Given the description of an element on the screen output the (x, y) to click on. 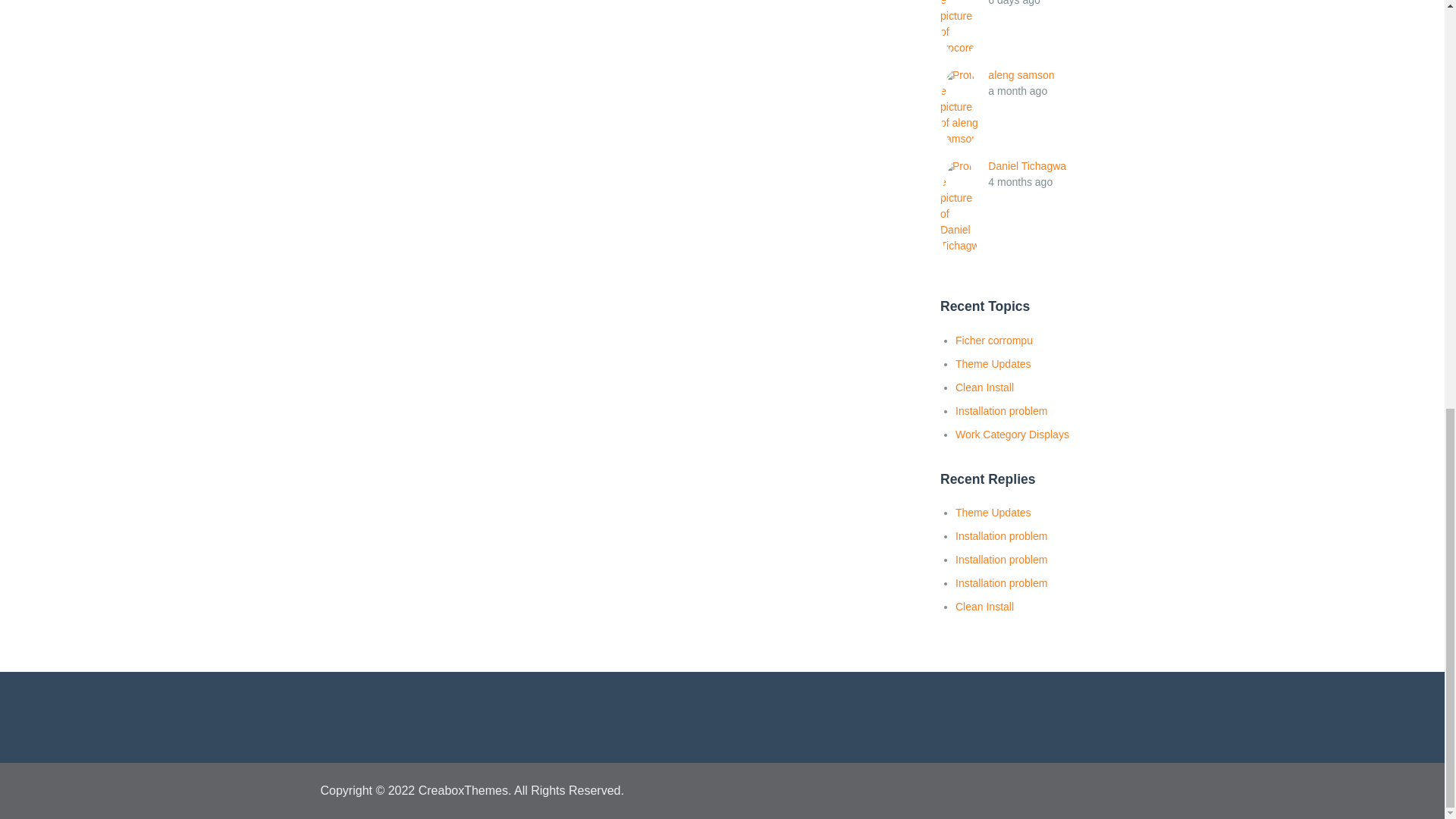
Installation problem (1000, 410)
Installation problem (1000, 535)
Daniel Tichagwa (1026, 165)
Theme Updates (992, 512)
Work Category Displays (1011, 434)
Clean Install (984, 387)
Theme Updates (992, 363)
Installation problem (1000, 559)
Ficher corrompu (993, 340)
aleng samson (1021, 74)
